Given the description of an element on the screen output the (x, y) to click on. 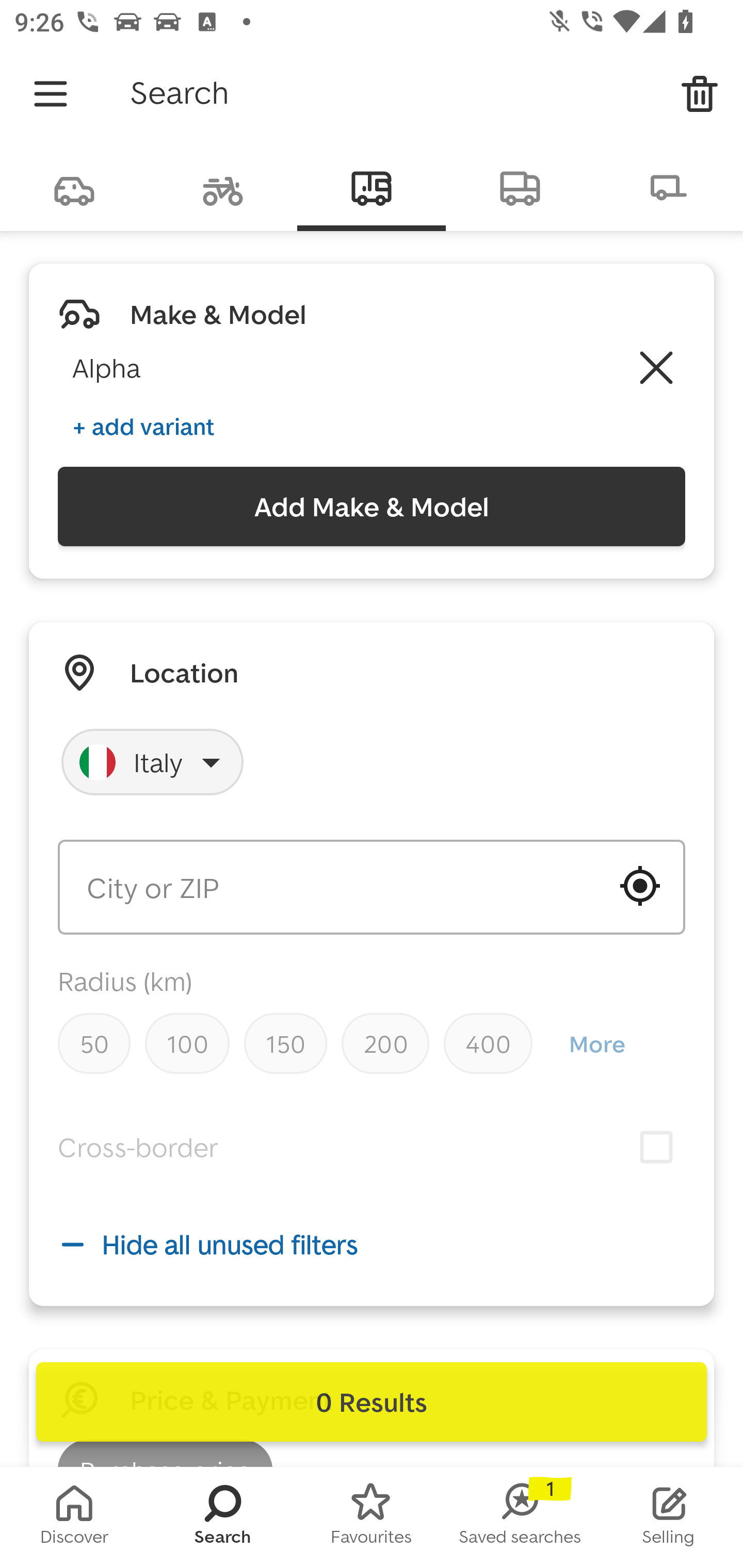
Navigate up (50, 93)
New search (699, 93)
CAR_SEARCH (74, 187)
BIKE_SEARCH (222, 187)
TRUCKS_SEARCH (519, 187)
TRAILERS_SEARCH (668, 187)
Make & Model (218, 314)
+ add variant (143, 426)
Add Make & Model (371, 506)
Location (184, 672)
Italy (152, 761)
City or ZIP (371, 887)
Radius (km) (124, 980)
50 (93, 1043)
100 (186, 1043)
150 (284, 1043)
200 (385, 1043)
400 (487, 1043)
More (596, 1043)
Hide all unused filters (371, 1244)
0 Results (371, 1401)
HOMESCREEN Discover (74, 1517)
SEARCH Search (222, 1517)
FAVORITES Favourites (371, 1517)
SAVED_SEARCHES Saved searches 1 (519, 1517)
STOCK_LIST Selling (668, 1517)
